Given the description of an element on the screen output the (x, y) to click on. 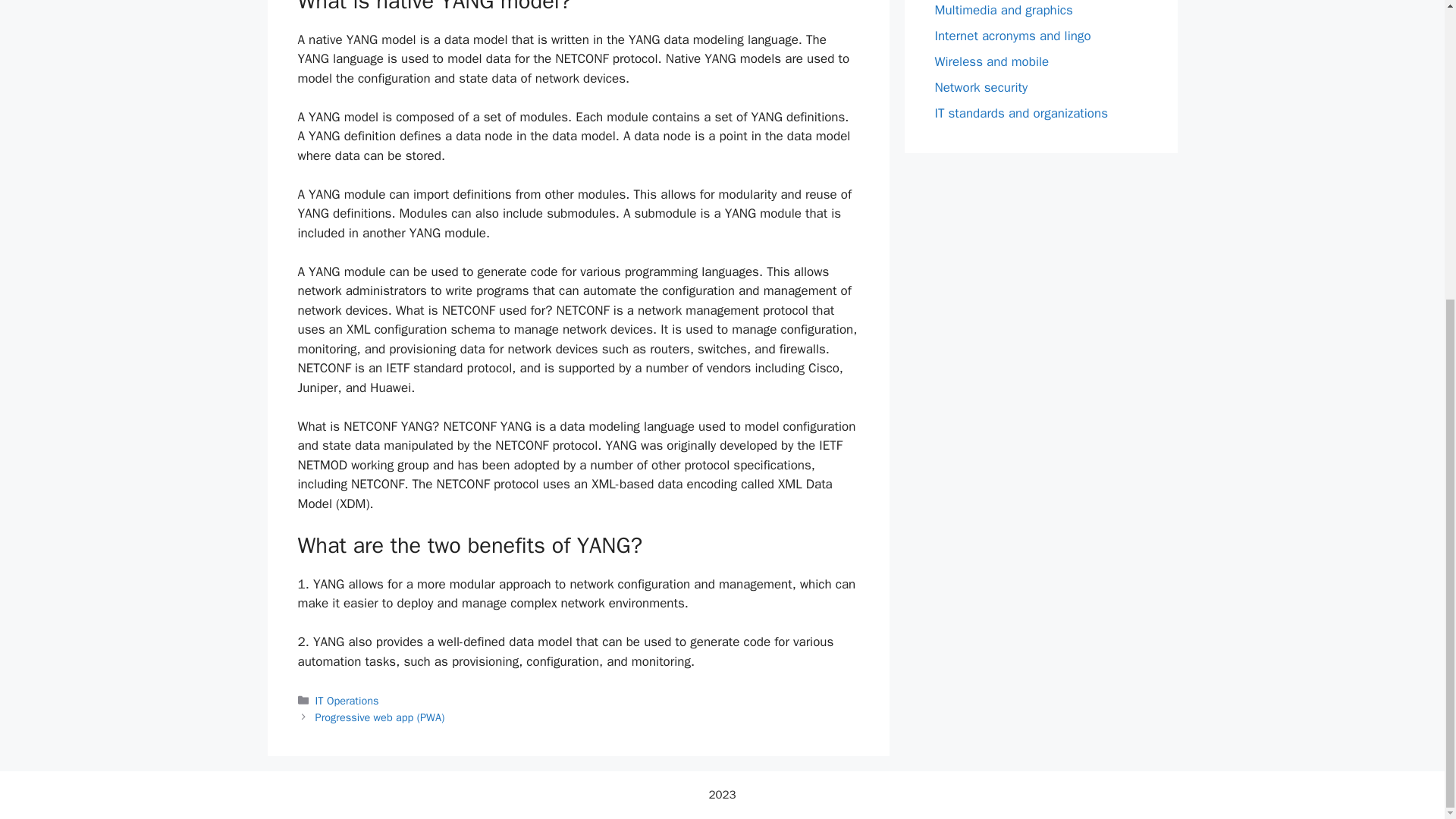
Wireless and mobile (991, 60)
Multimedia and graphics (1002, 9)
IT standards and organizations (1021, 112)
Internet acronyms and lingo (1012, 35)
IT Operations (346, 700)
Network security (980, 86)
